Given the description of an element on the screen output the (x, y) to click on. 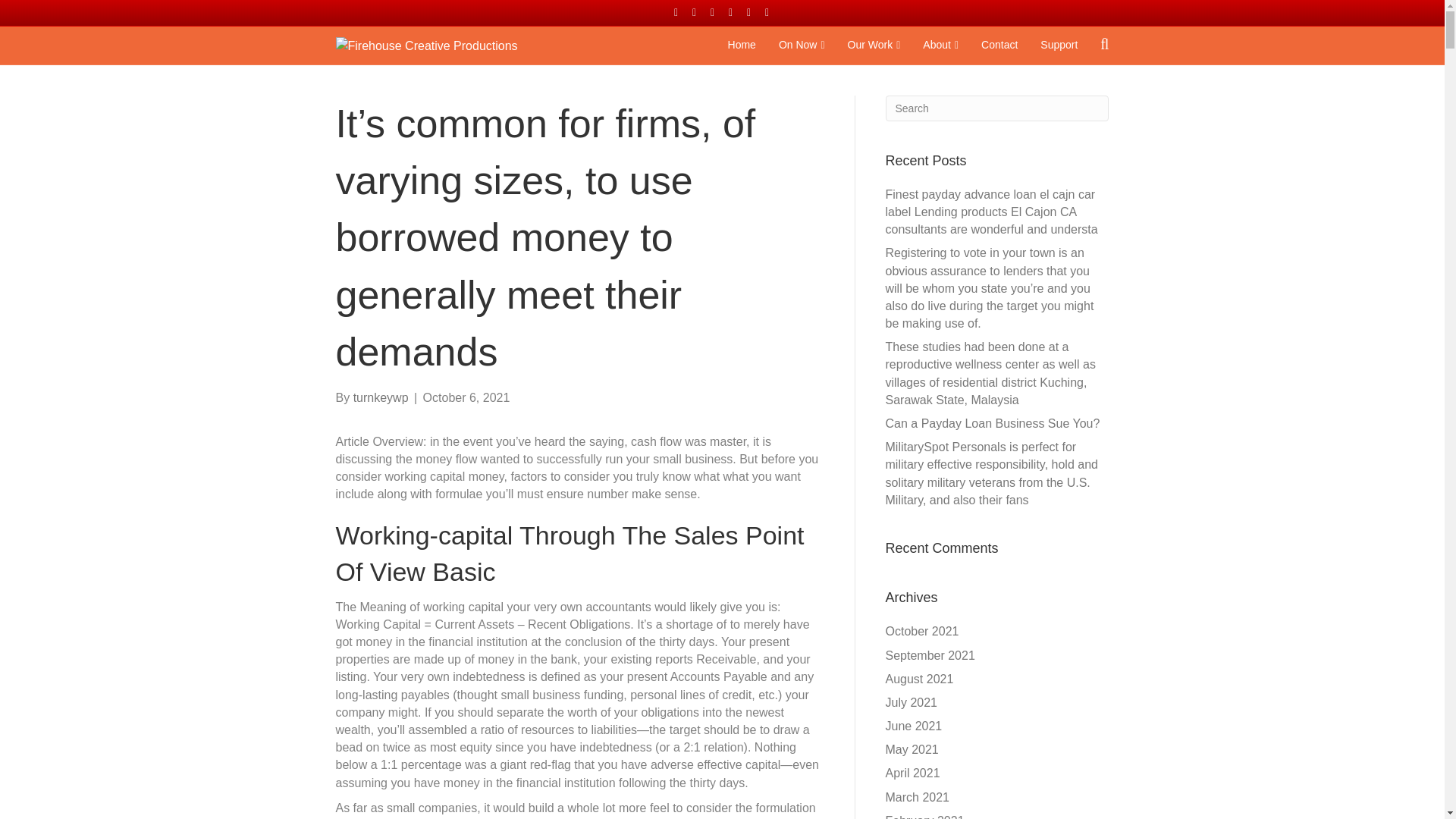
Type and press Enter to search. (997, 108)
Search (997, 108)
On Now (801, 45)
Home (741, 45)
Search (997, 108)
Our Work (873, 45)
